Given the description of an element on the screen output the (x, y) to click on. 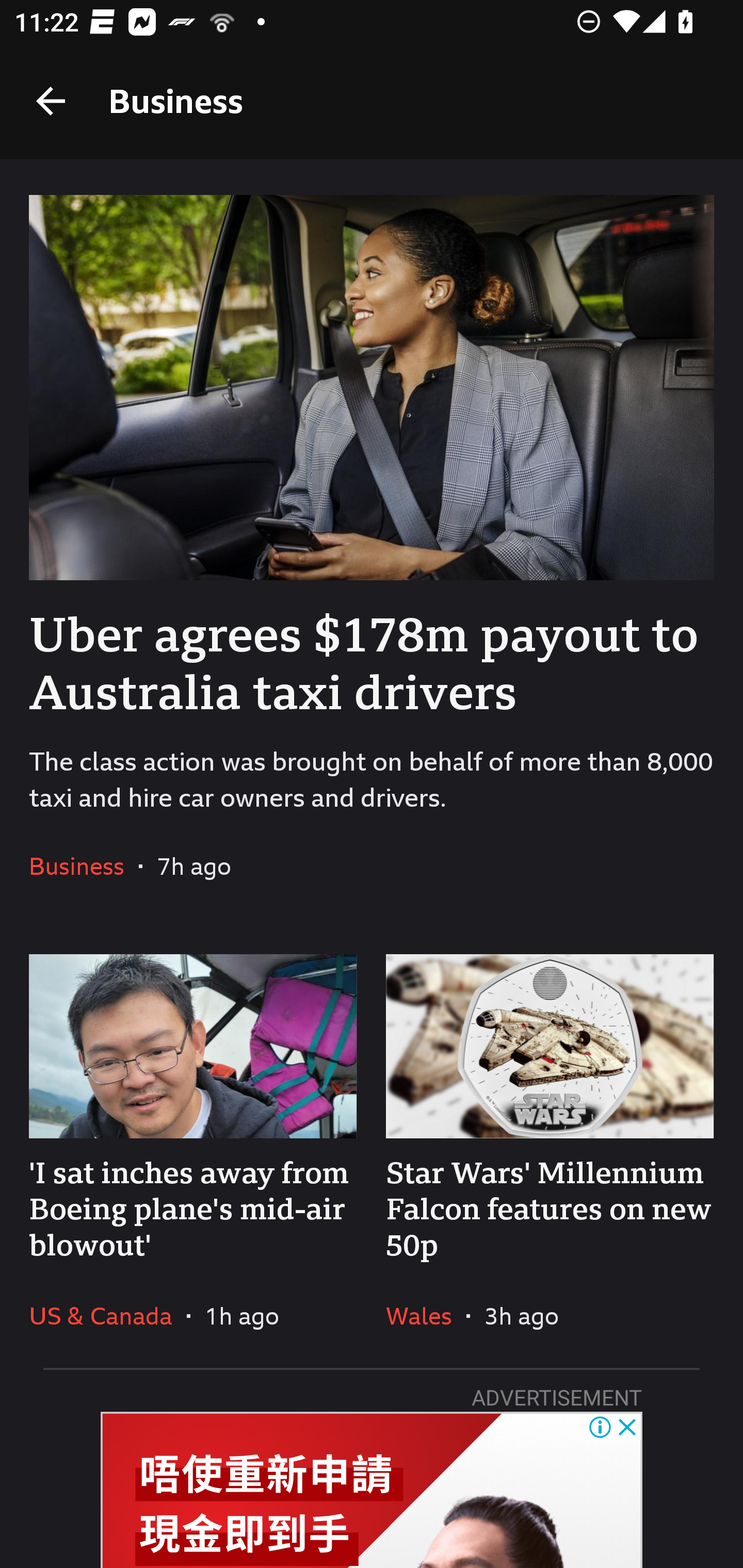
Back (50, 101)
Business In the section Business (83, 865)
US & Canada In the section US & Canada (107, 1315)
Wales In the section Wales (425, 1315)
